Given the description of an element on the screen output the (x, y) to click on. 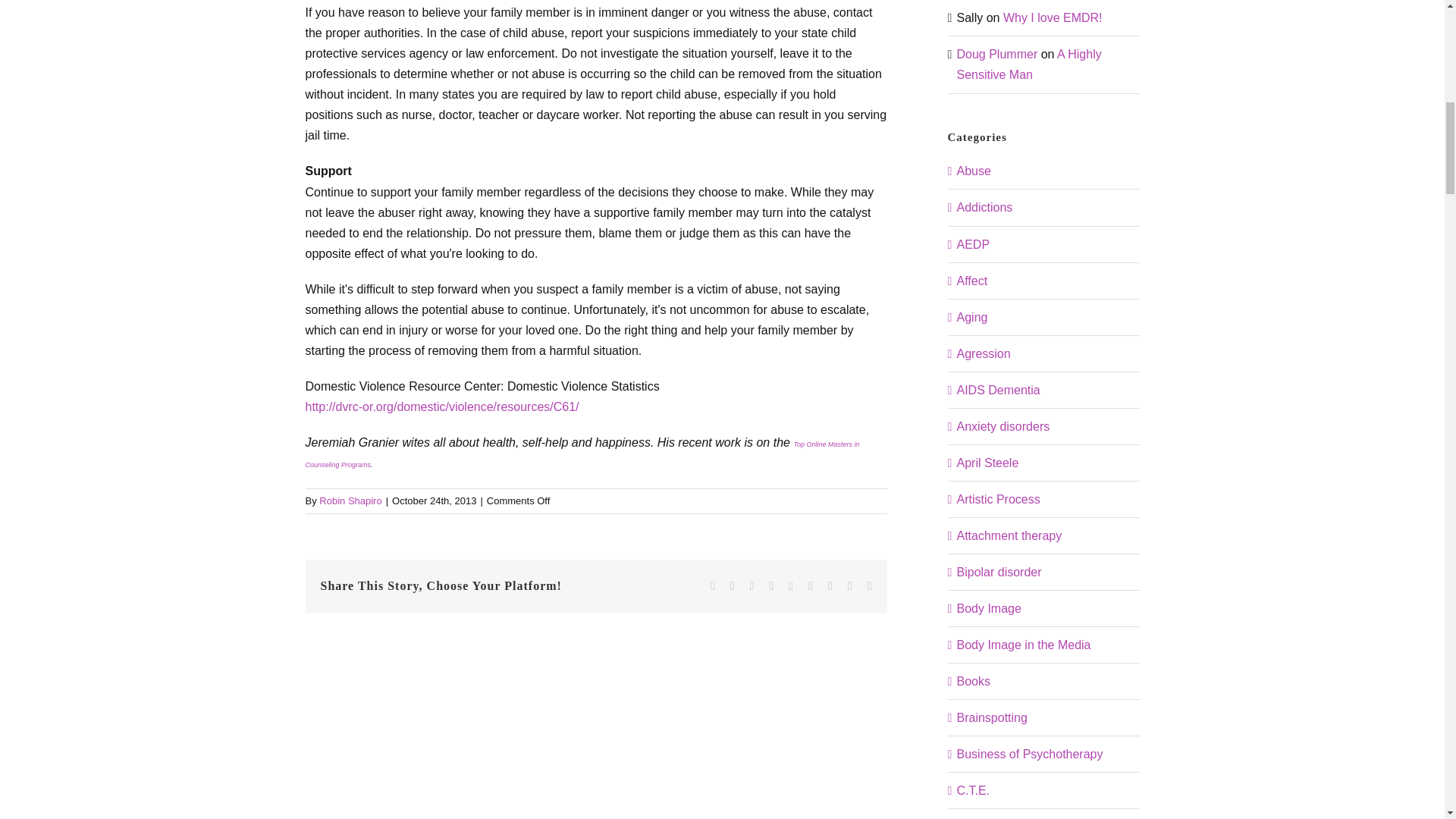
Top Online Masters in Counseling Programs (581, 454)
Robin Shapiro (349, 500)
Posts by Robin Shapiro (349, 500)
